Given the description of an element on the screen output the (x, y) to click on. 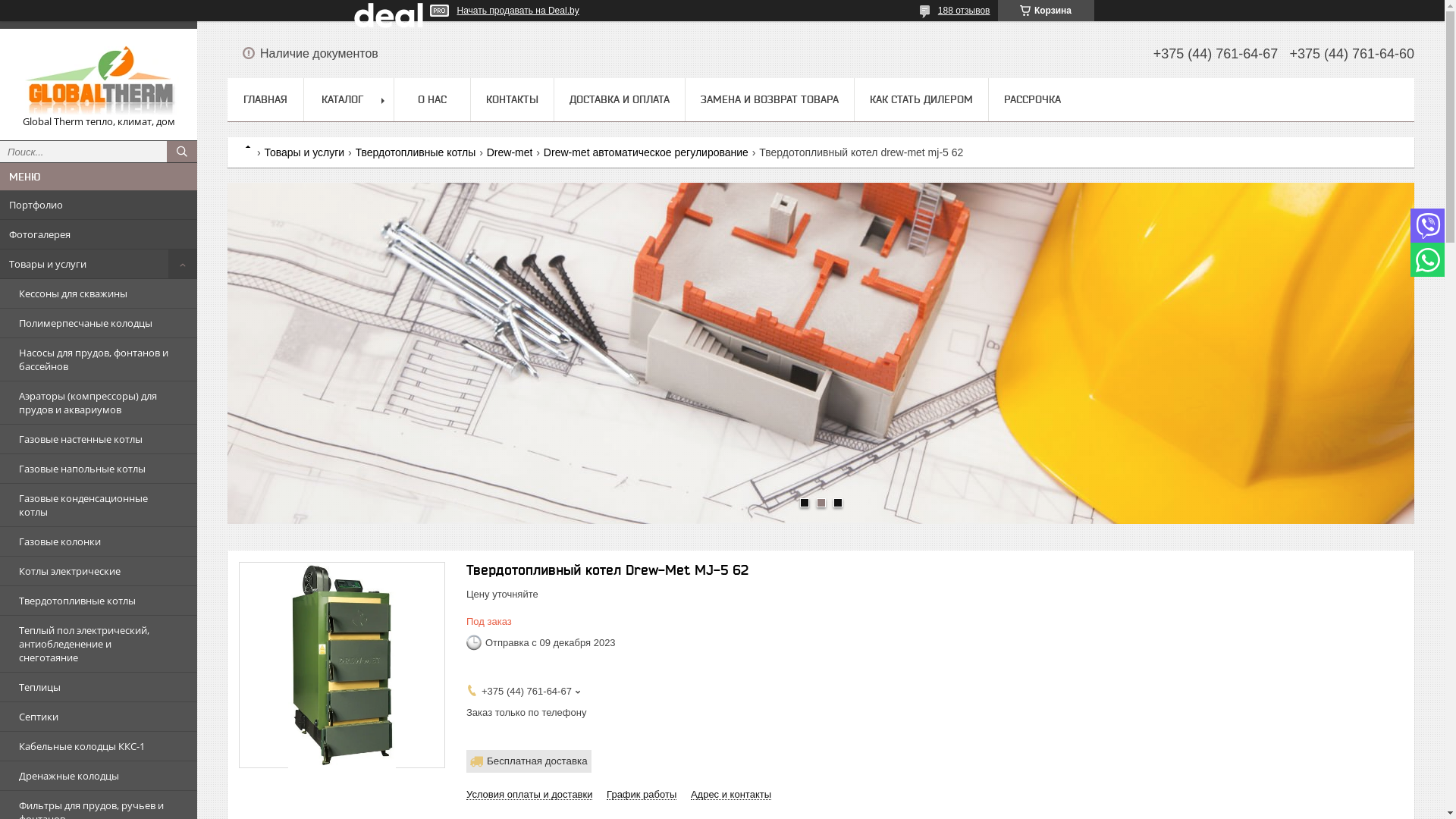
Drew-met Element type: text (509, 152)
